Given the description of an element on the screen output the (x, y) to click on. 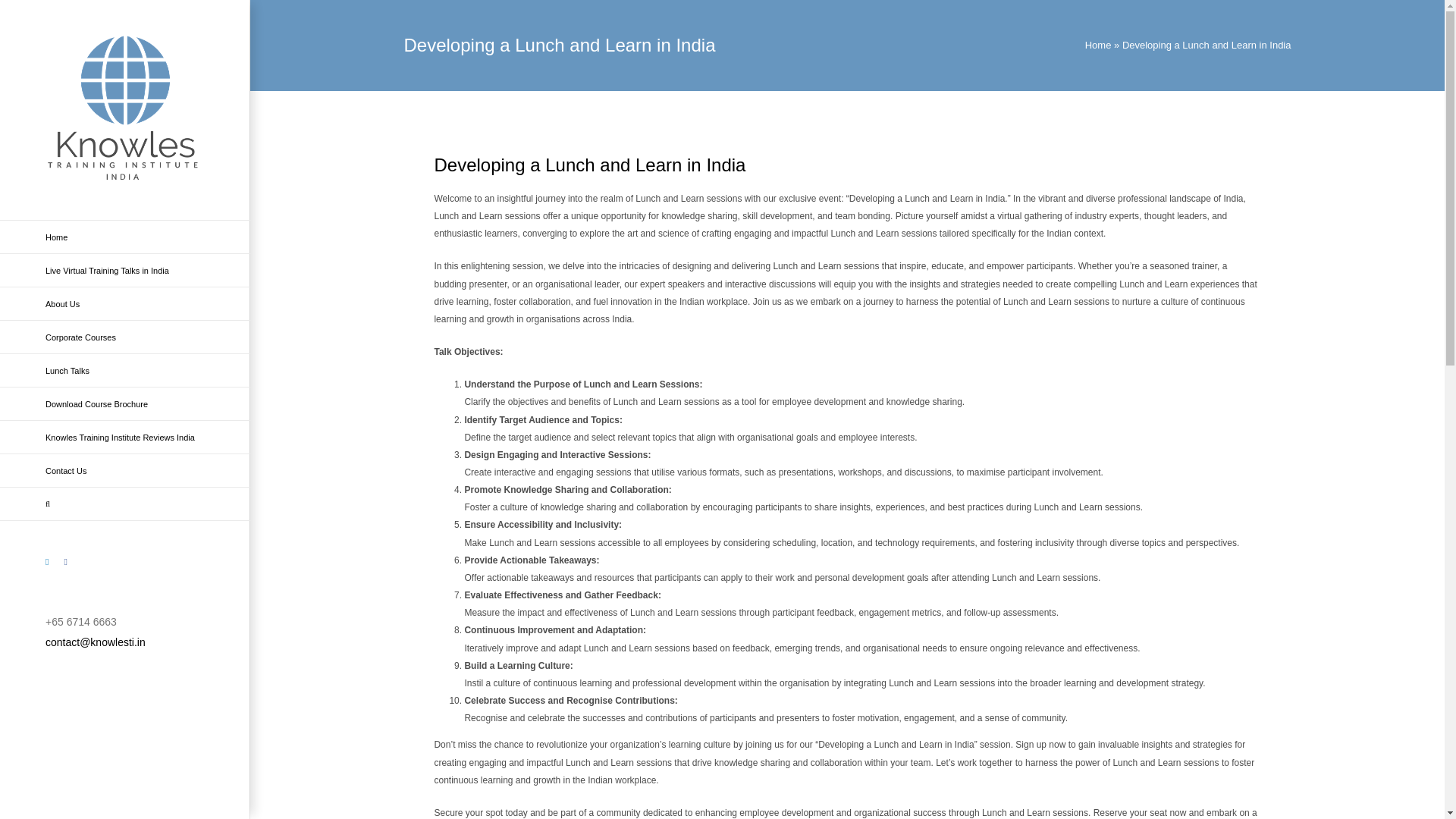
Download Course Brochure (125, 403)
Lunch Talks (125, 370)
Home (1098, 44)
About Us (125, 304)
Search (125, 503)
Home (125, 236)
Contact Us (125, 470)
Live Virtual Training Talks in India (125, 270)
Knowles Training Institute Reviews India (125, 437)
Corporate Courses (125, 337)
